Given the description of an element on the screen output the (x, y) to click on. 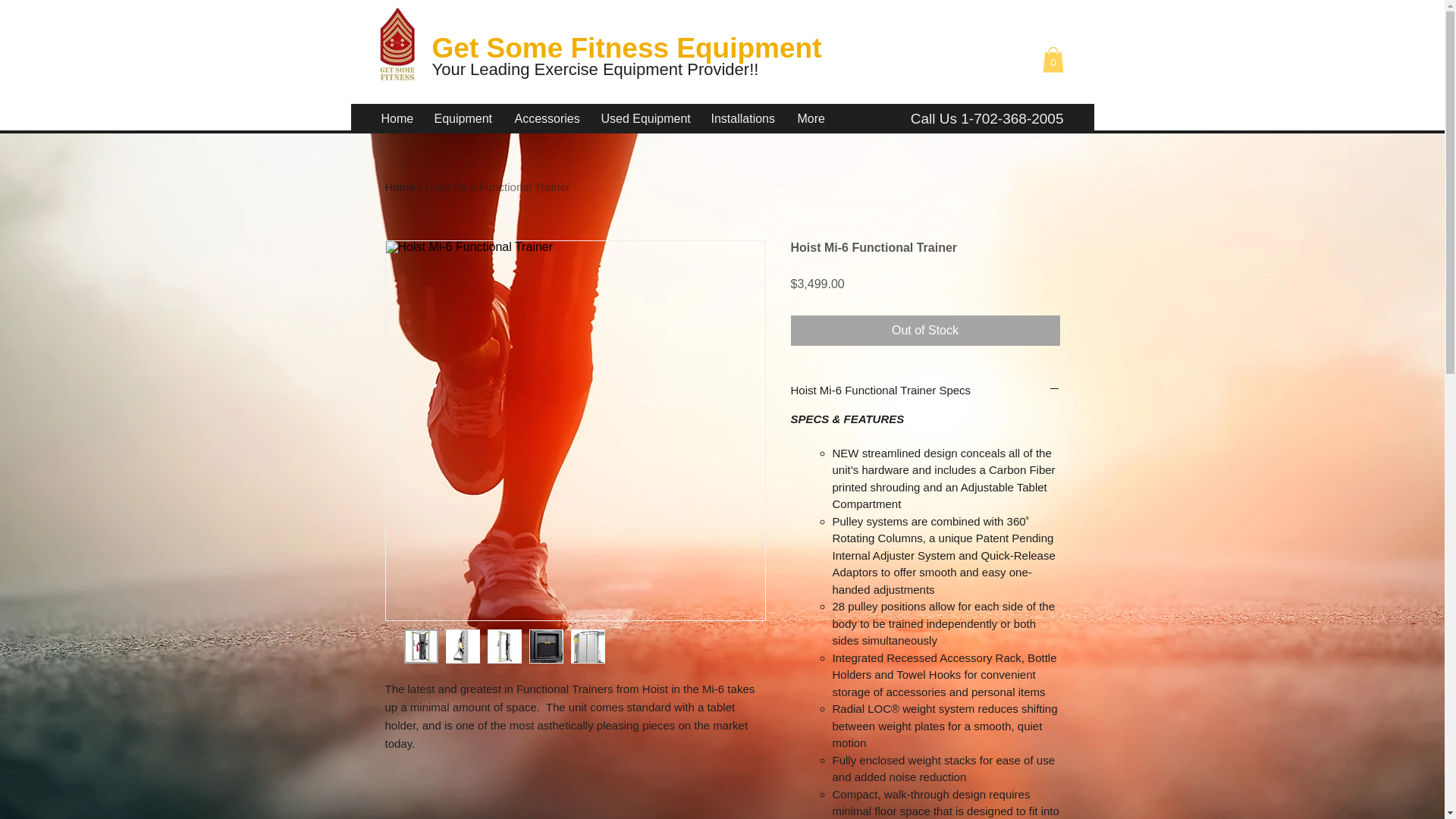
Your Leading Exercise Equipment Provider!!   (600, 68)
Hoist Mi-6 Functional Trainer (497, 186)
Out of Stock (924, 330)
Used Equipment (644, 118)
Equipment (463, 118)
Hoist Mi-6 Functional Trainer Specs (924, 390)
Home (396, 118)
Installations (742, 118)
Accessories (546, 118)
Home (399, 186)
